Given the description of an element on the screen output the (x, y) to click on. 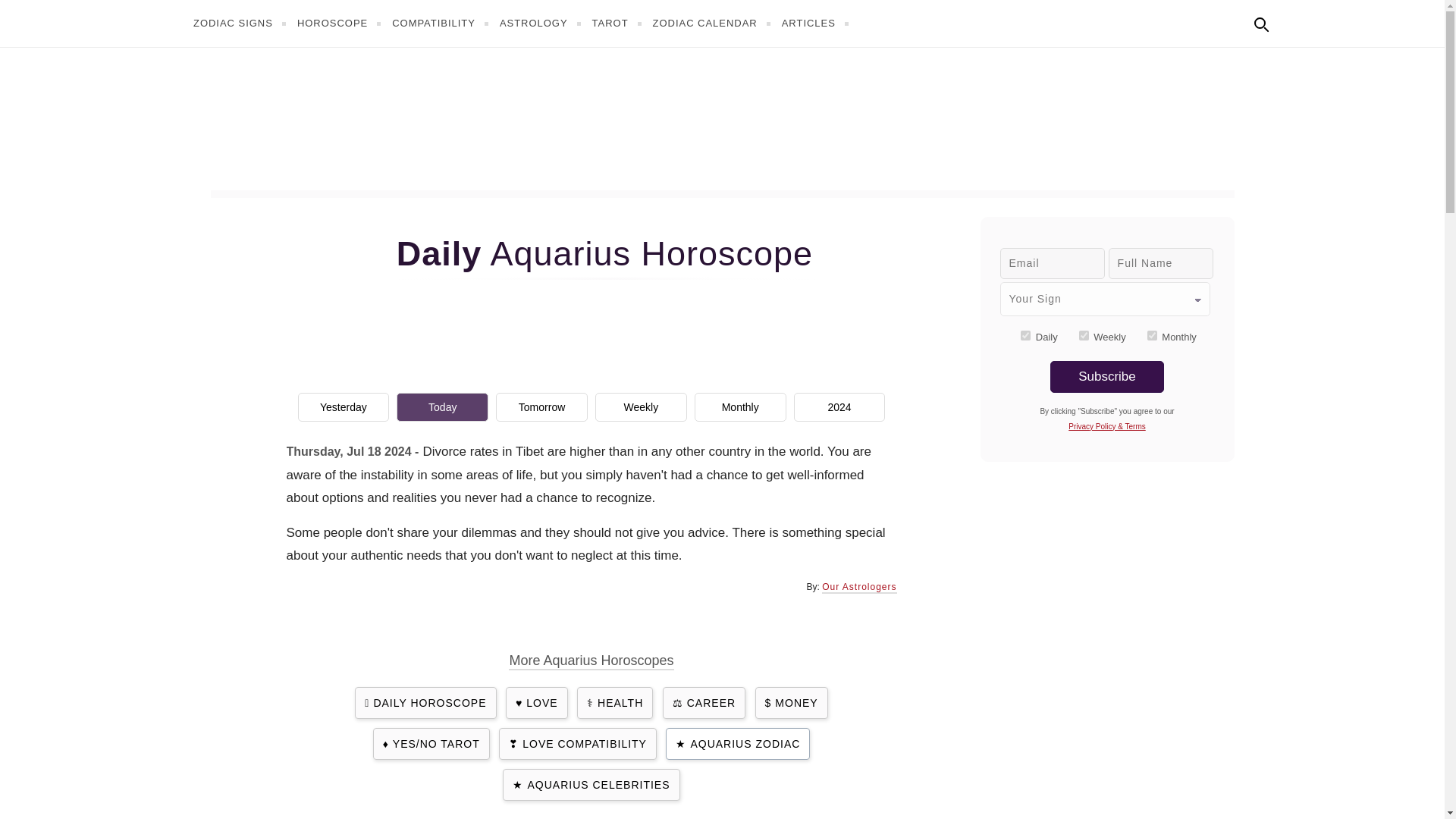
ZODIAC SIGNS (241, 23)
In English (1294, 21)
daily (1025, 335)
monthly (1152, 335)
HOROSCOPE (341, 23)
weekly (1083, 335)
